Given the description of an element on the screen output the (x, y) to click on. 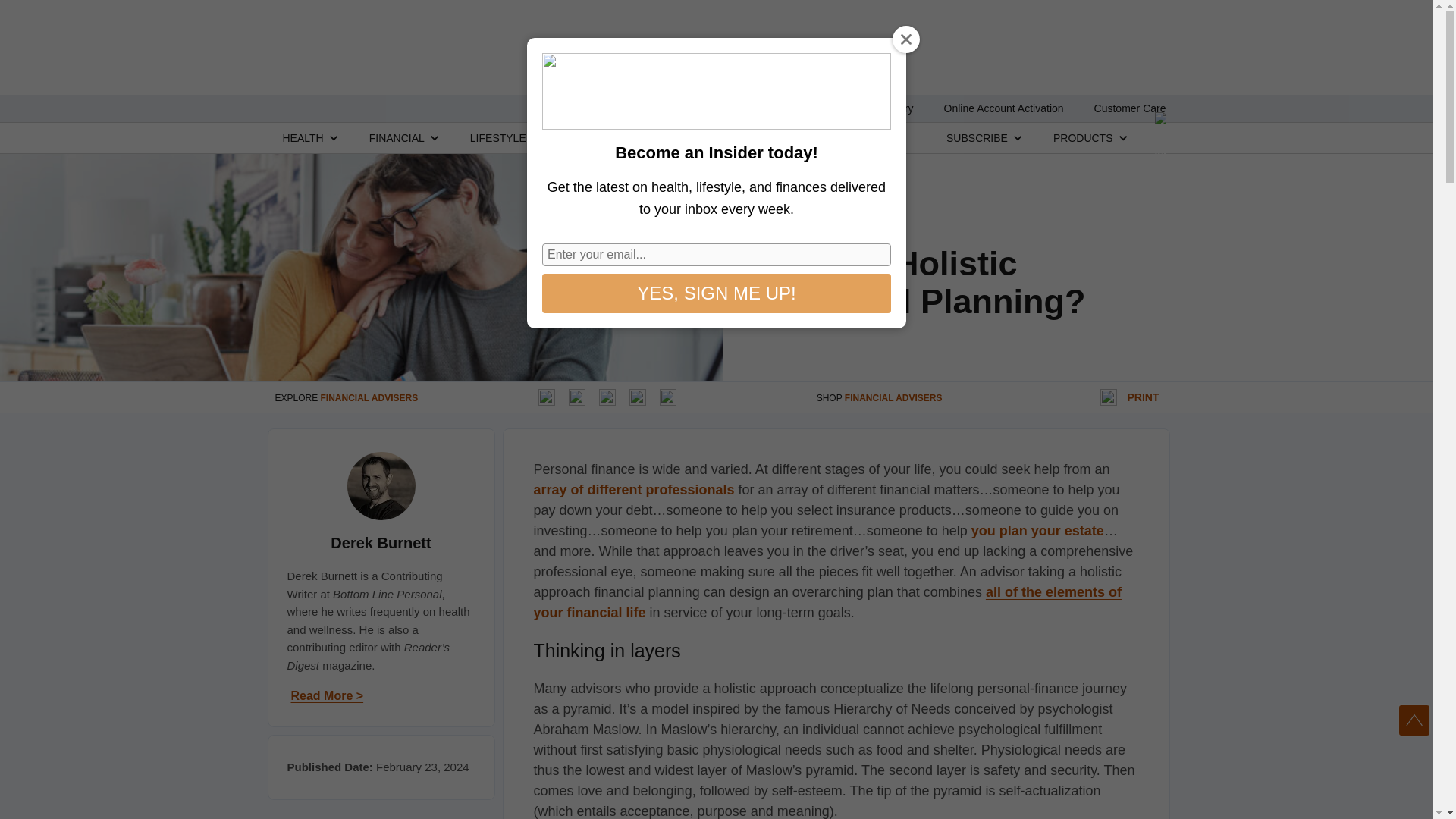
Scroll To Top (1414, 720)
Login (820, 108)
FINANCIAL (397, 137)
Scroll To Top (1414, 720)
My Library (887, 108)
HEALTH (302, 137)
Scroll To Top (1414, 720)
LIFESTYLE (497, 137)
Online Account Activation (1003, 108)
Customer Care (1130, 108)
